Given the description of an element on the screen output the (x, y) to click on. 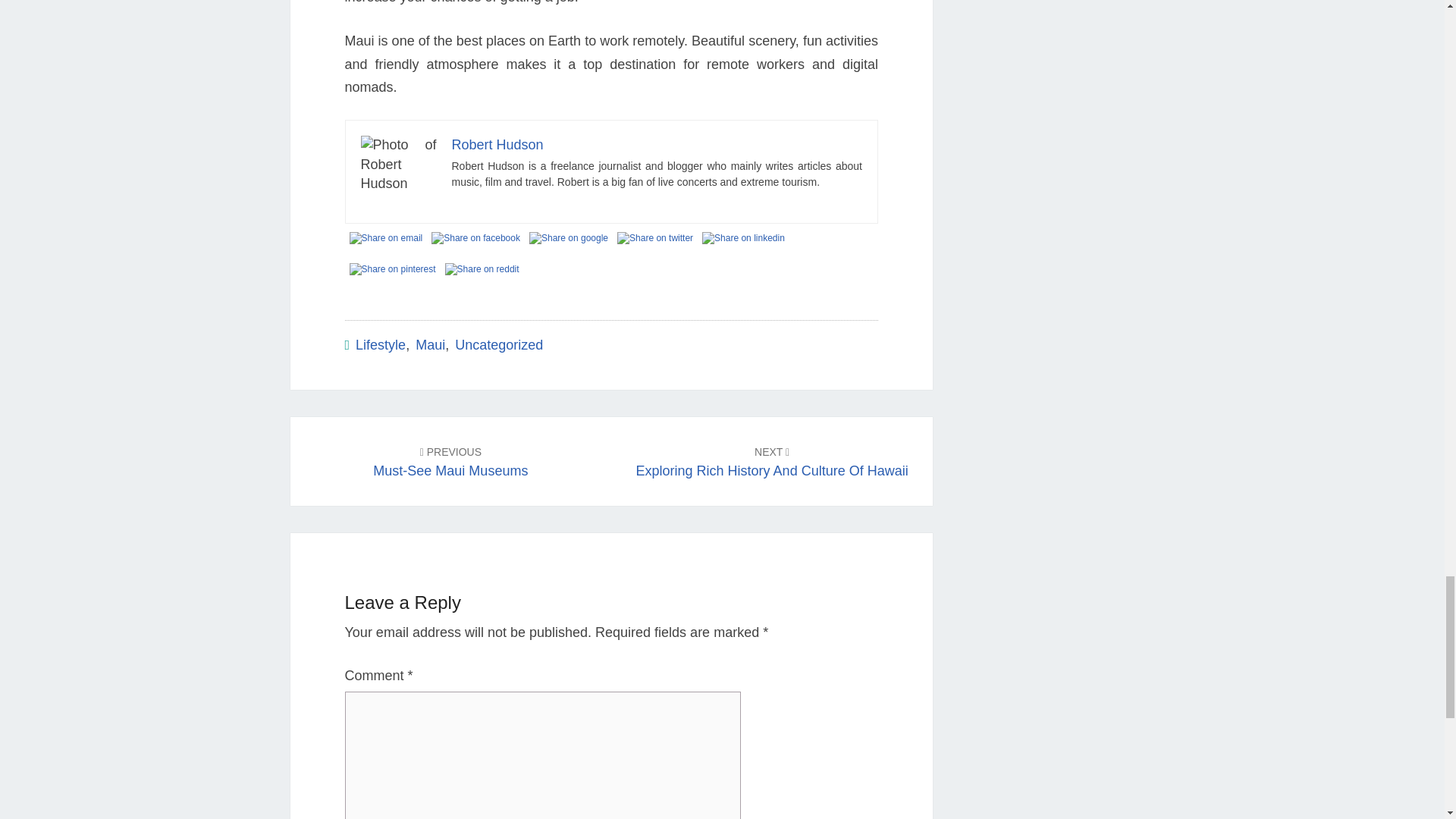
Maui (429, 344)
Lifestyle (380, 344)
twitter (654, 238)
facebook (475, 238)
google (568, 238)
Robert Hudson (772, 460)
email (497, 144)
Uncategorized (384, 238)
